Given the description of an element on the screen output the (x, y) to click on. 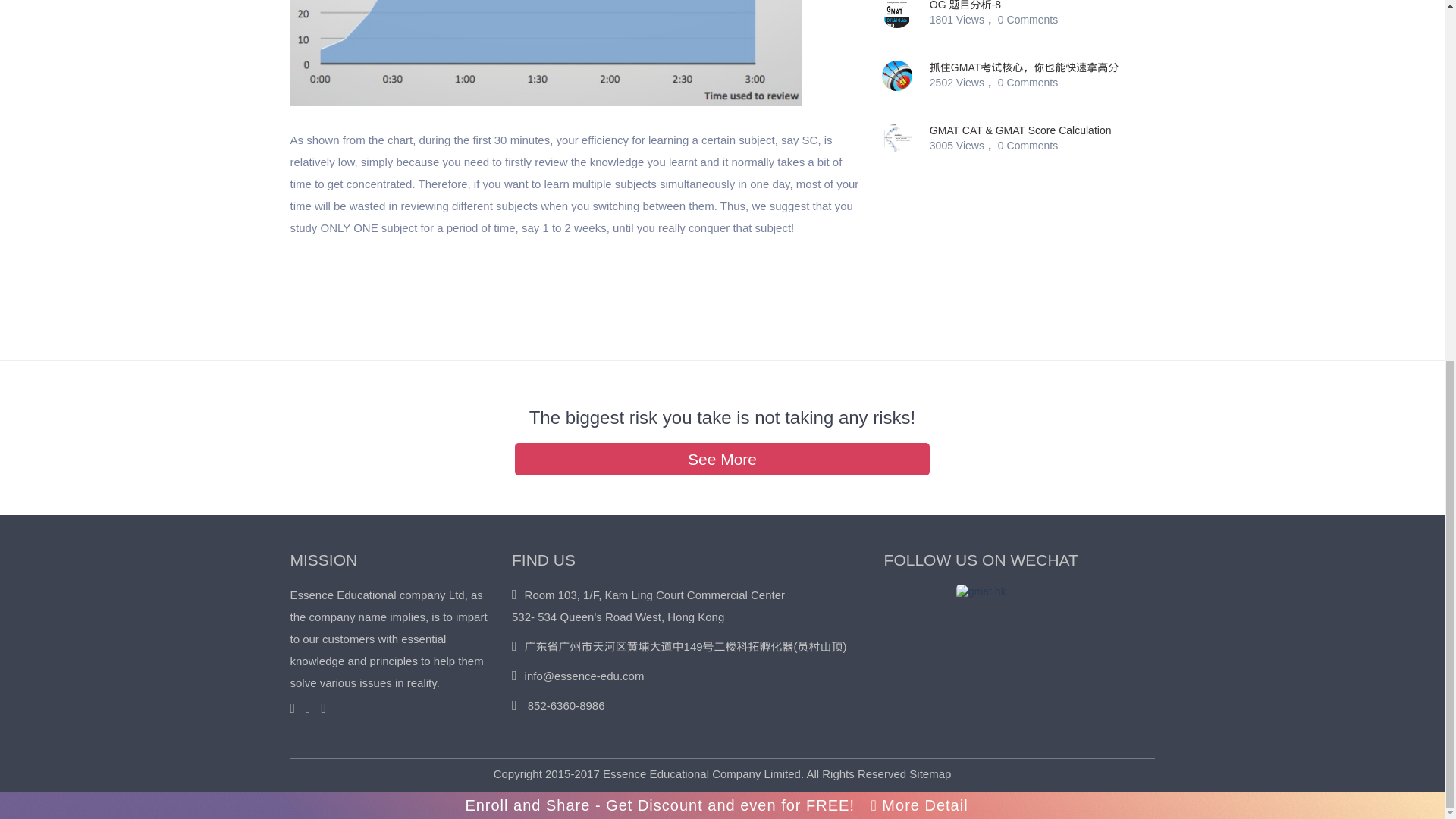
SinaWeiBo (326, 708)
Facebook (311, 708)
See More (722, 458)
More Detail (919, 164)
Linkedin (295, 708)
